Given the description of an element on the screen output the (x, y) to click on. 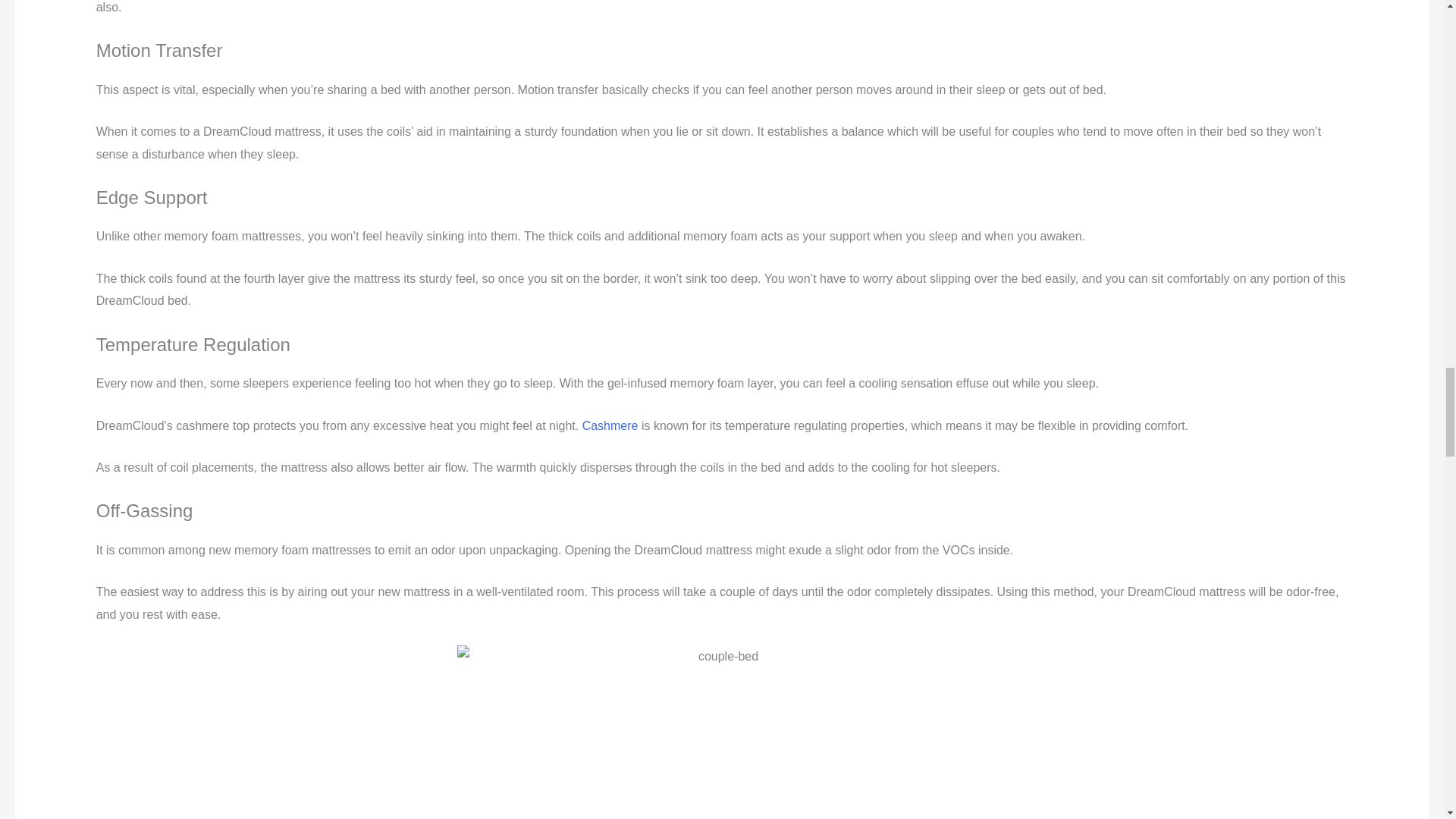
Cashmere (610, 425)
